Given the description of an element on the screen output the (x, y) to click on. 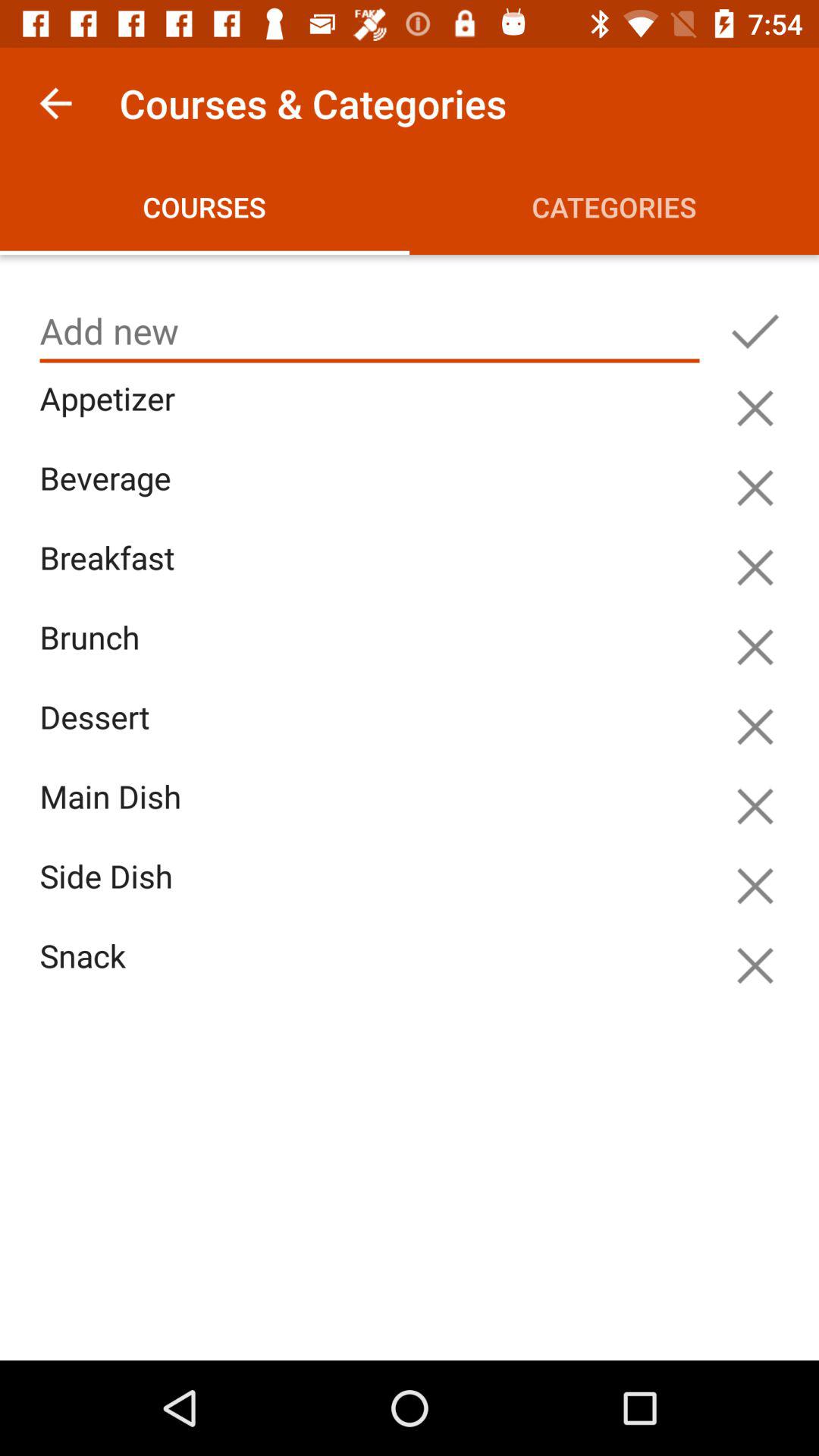
turn off the item above the main dish item (373, 734)
